Given the description of an element on the screen output the (x, y) to click on. 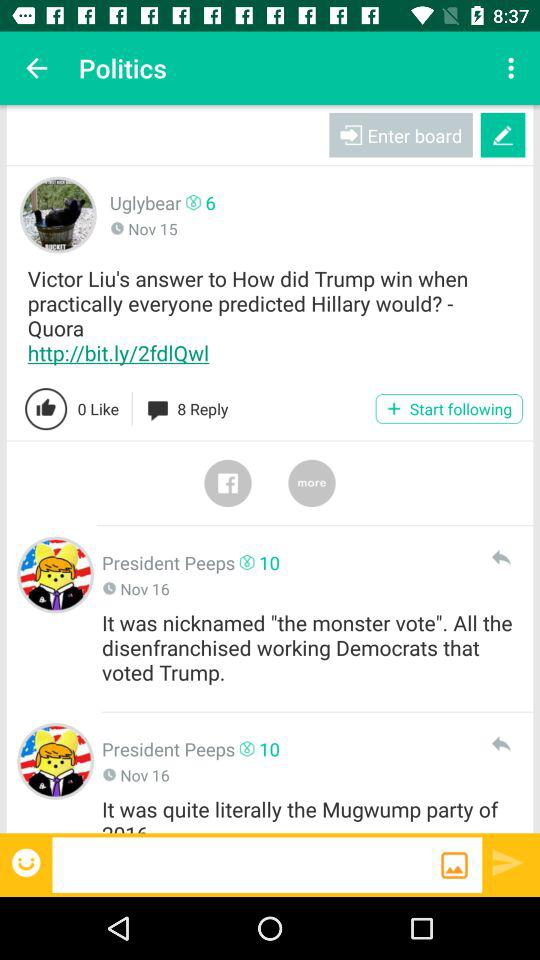
check profile (55, 574)
